Given the description of an element on the screen output the (x, y) to click on. 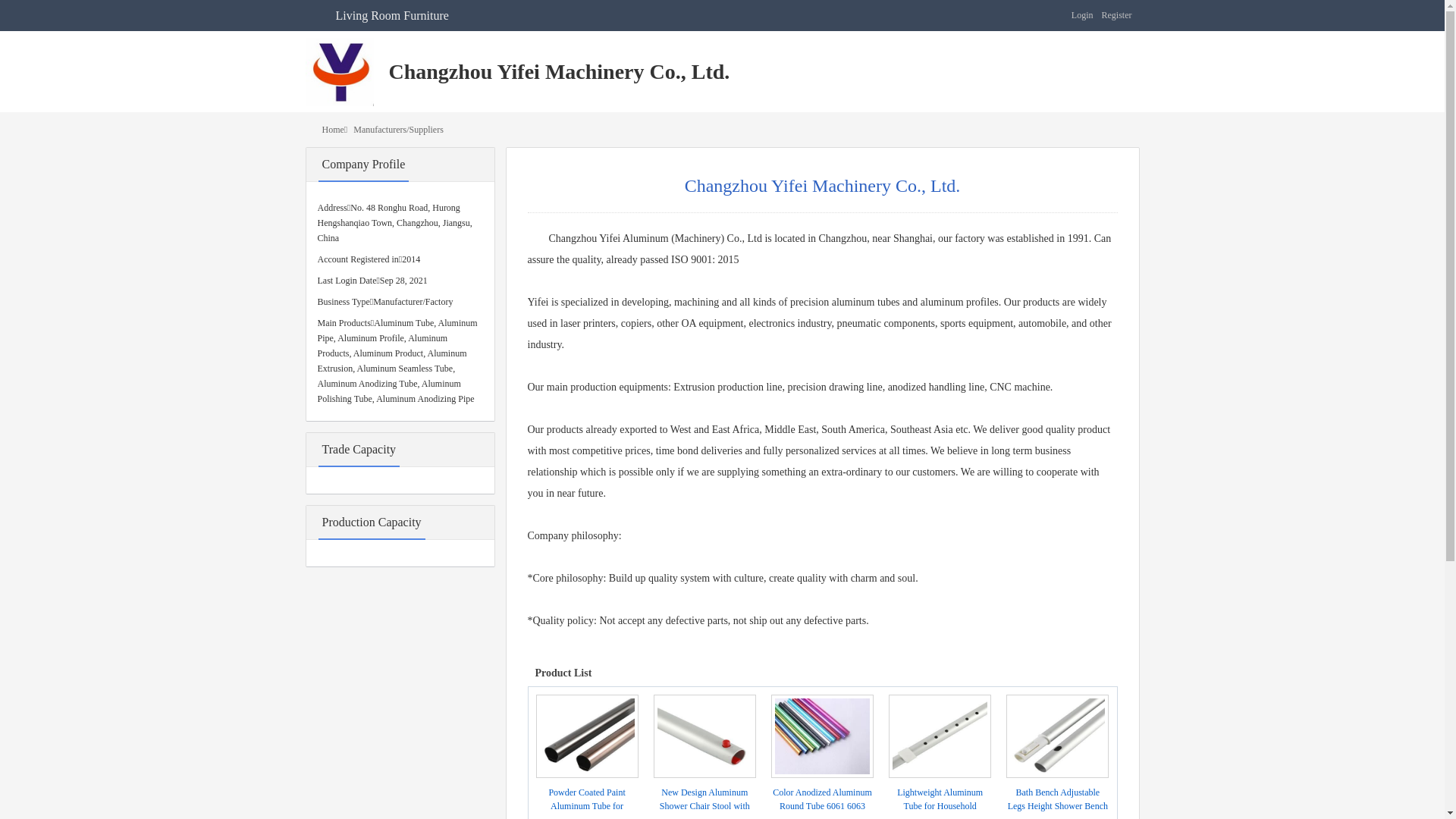
Login Element type: text (1082, 14)
Register Element type: text (1116, 14)
Color Anodized Aluminum Round Tube 6061 6063 Element type: text (822, 799)
Living Room Furniture Element type: text (391, 15)
Manufacturers/Suppliers Element type: text (398, 129)
